Given the description of an element on the screen output the (x, y) to click on. 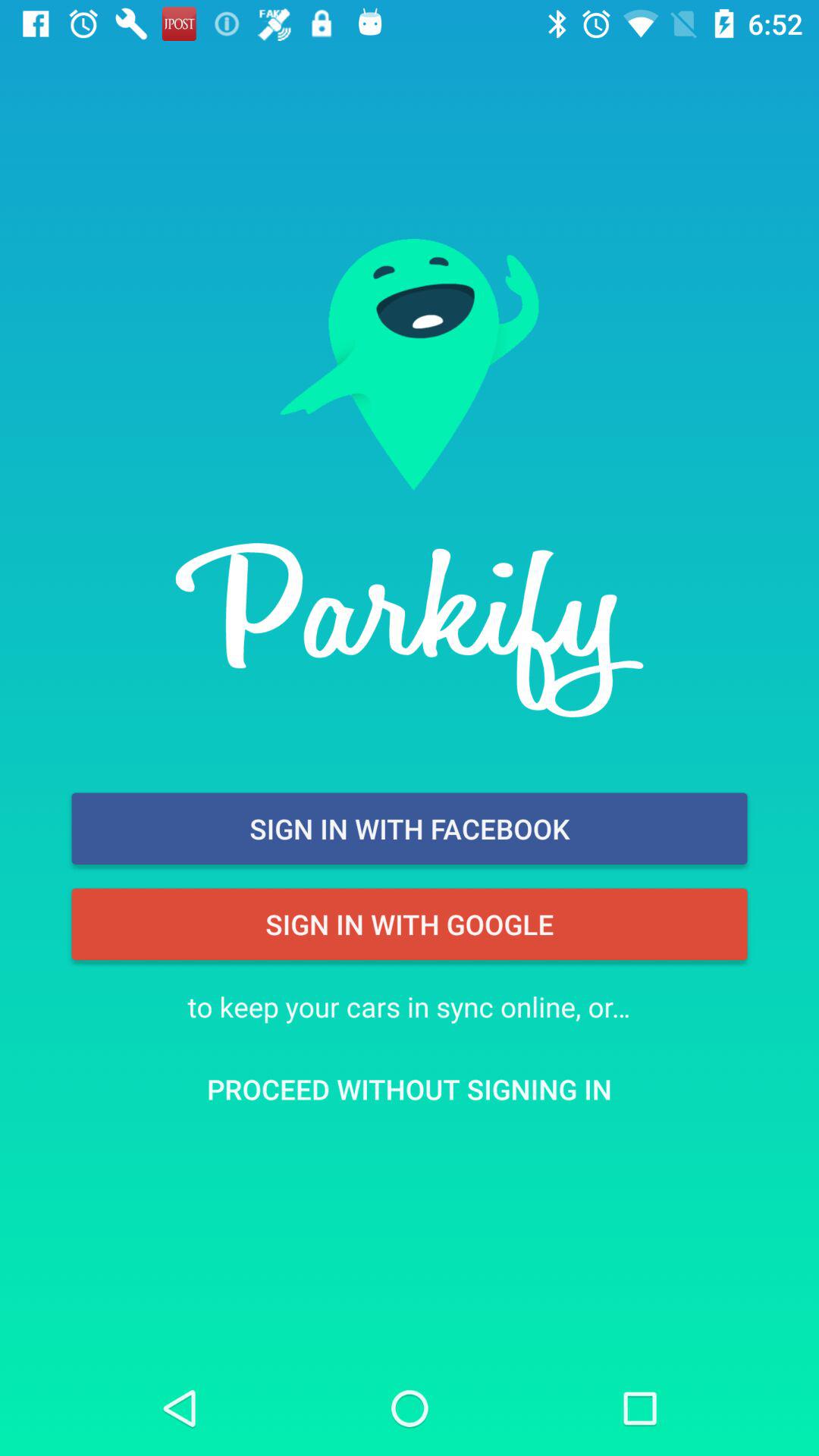
choose icon below to keep your item (409, 1088)
